Given the description of an element on the screen output the (x, y) to click on. 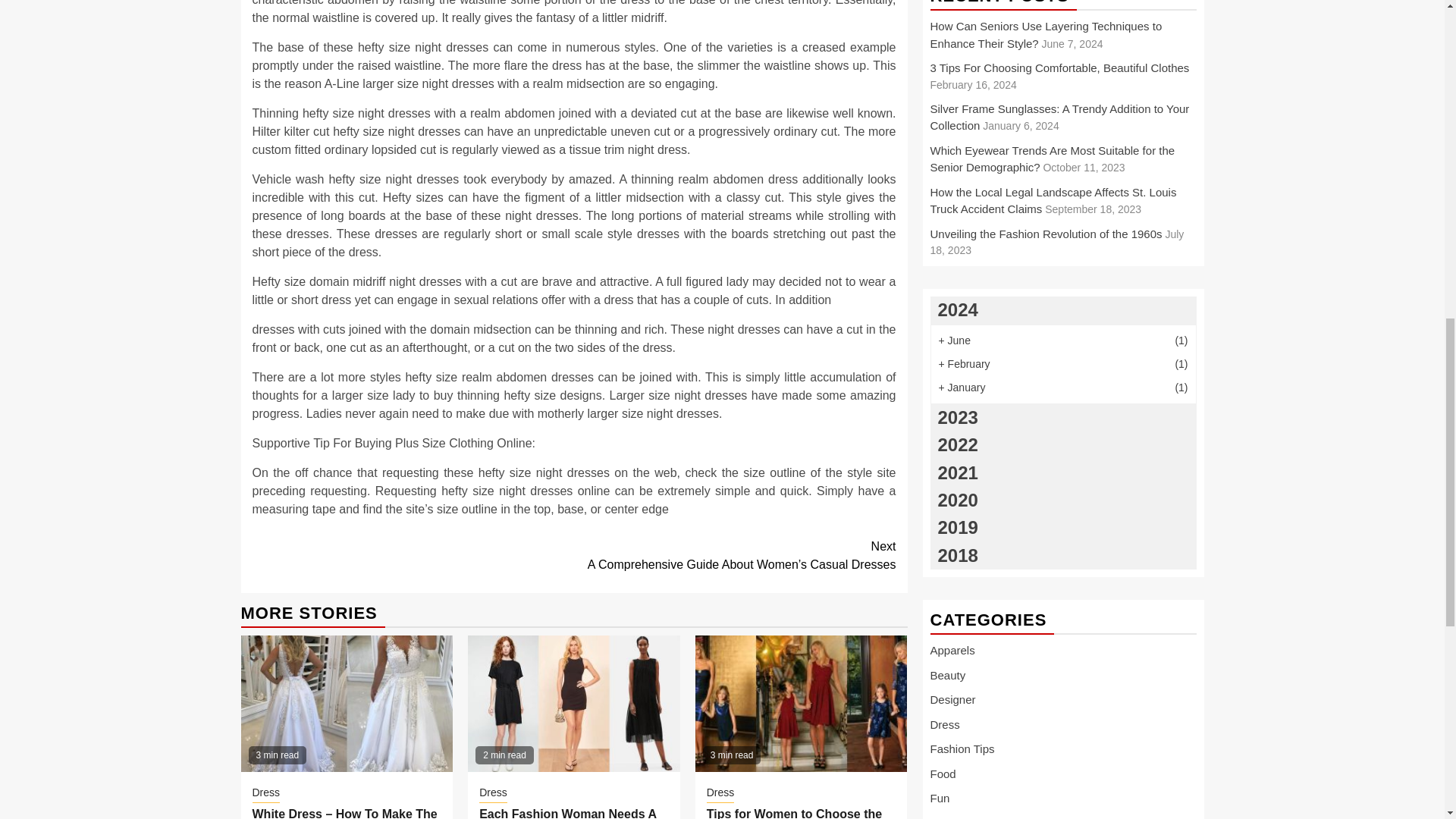
Dress (492, 793)
Tips for Women to Choose the Right Party Dress (794, 813)
Dress (265, 793)
Dress (720, 793)
Each Fashion Woman Needs A Little Black Dress (567, 813)
